Given the description of an element on the screen output the (x, y) to click on. 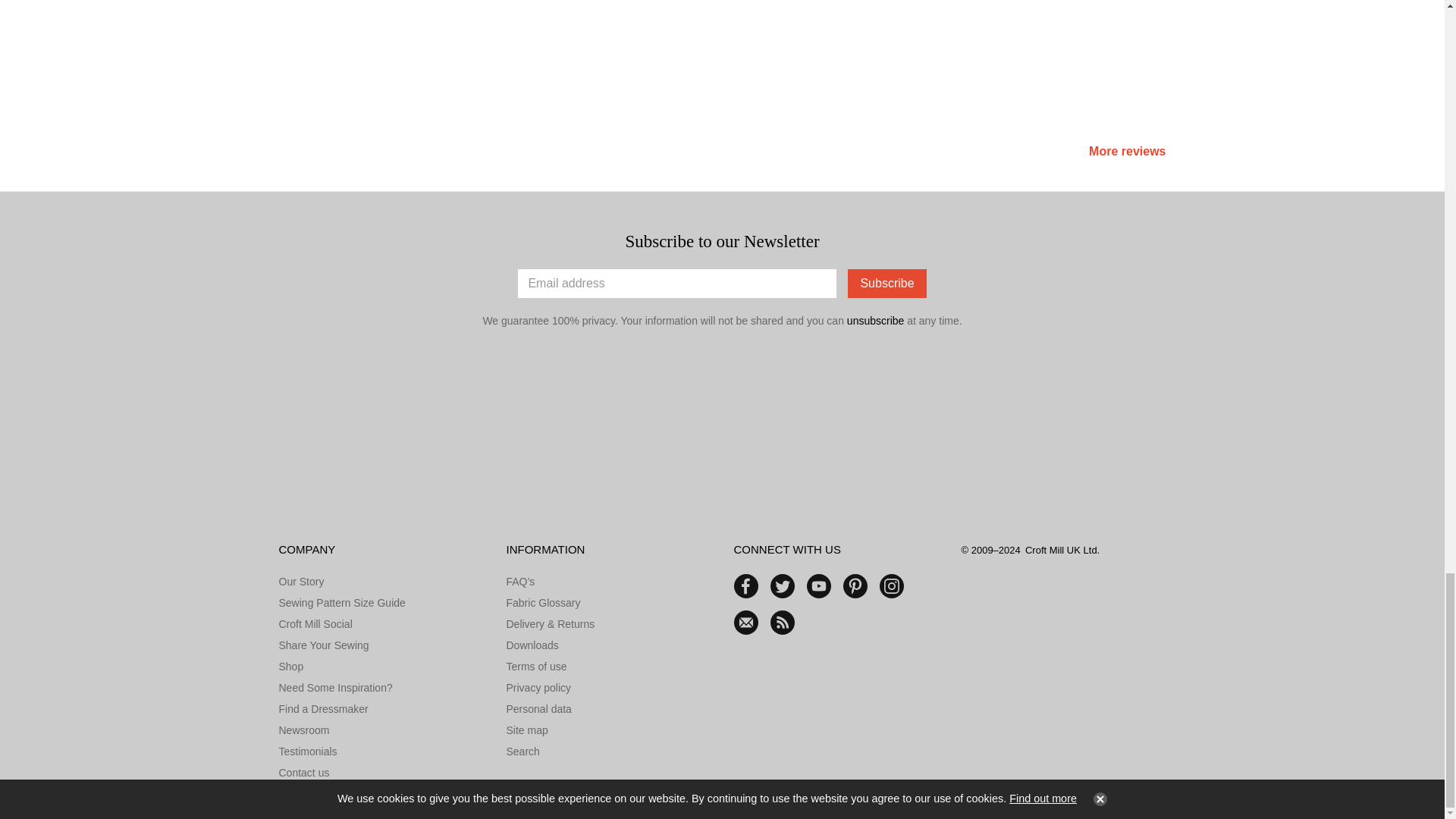
Subscribe (886, 283)
